Given the description of an element on the screen output the (x, y) to click on. 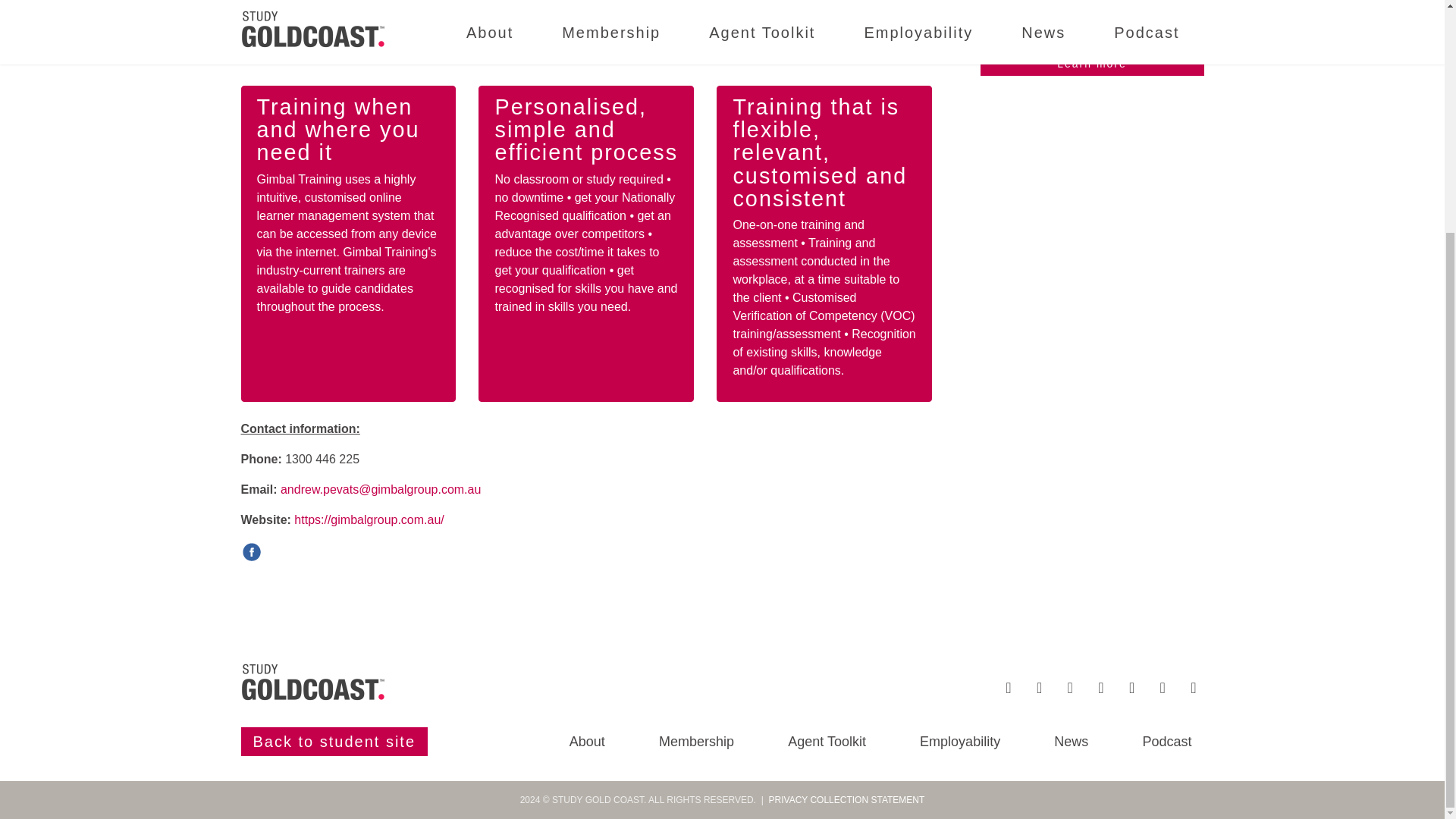
social facebook2 (250, 551)
Study Gold Coast (313, 681)
